Given the description of an element on the screen output the (x, y) to click on. 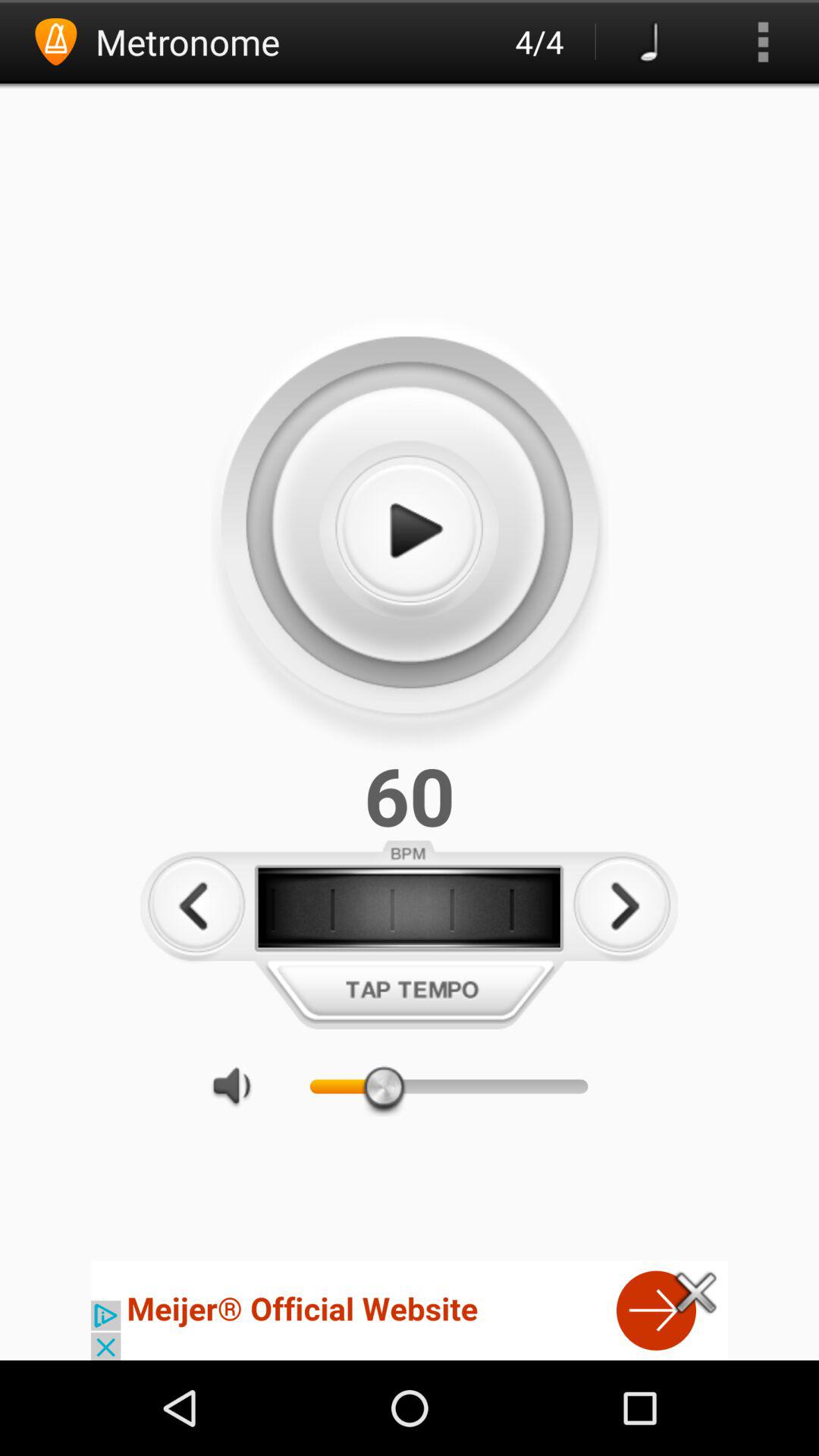
decrease bpm (196, 906)
